Given the description of an element on the screen output the (x, y) to click on. 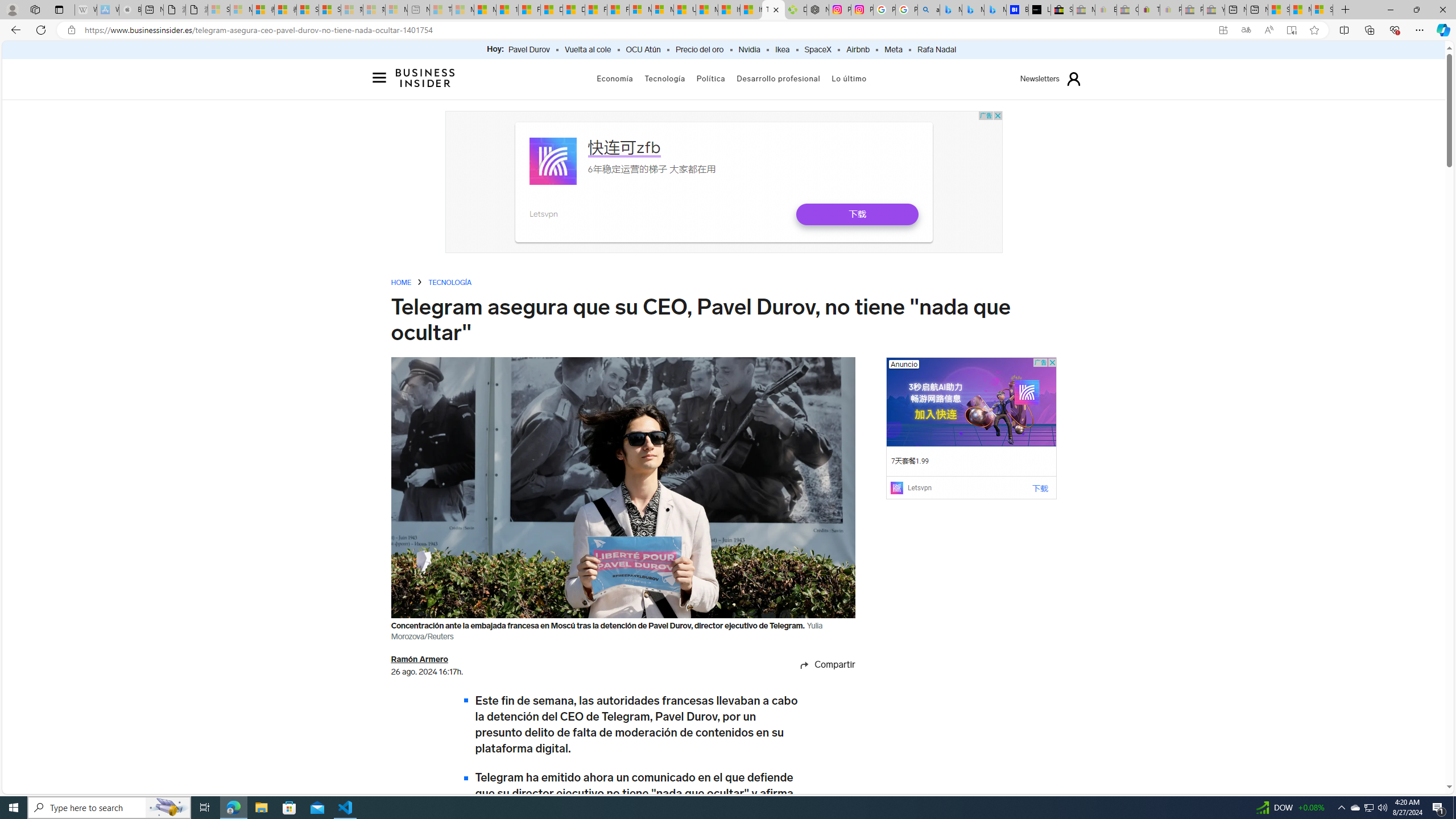
Payments Terms of Use | eBay.com - Sleeping (1170, 9)
Foo BAR | Trusted Community Engagement and Contributions (618, 9)
Meta (893, 49)
SpaceX (817, 49)
Letsvpn (552, 160)
Precio del oro (699, 49)
Pavel Durov (529, 49)
